Given the description of an element on the screen output the (x, y) to click on. 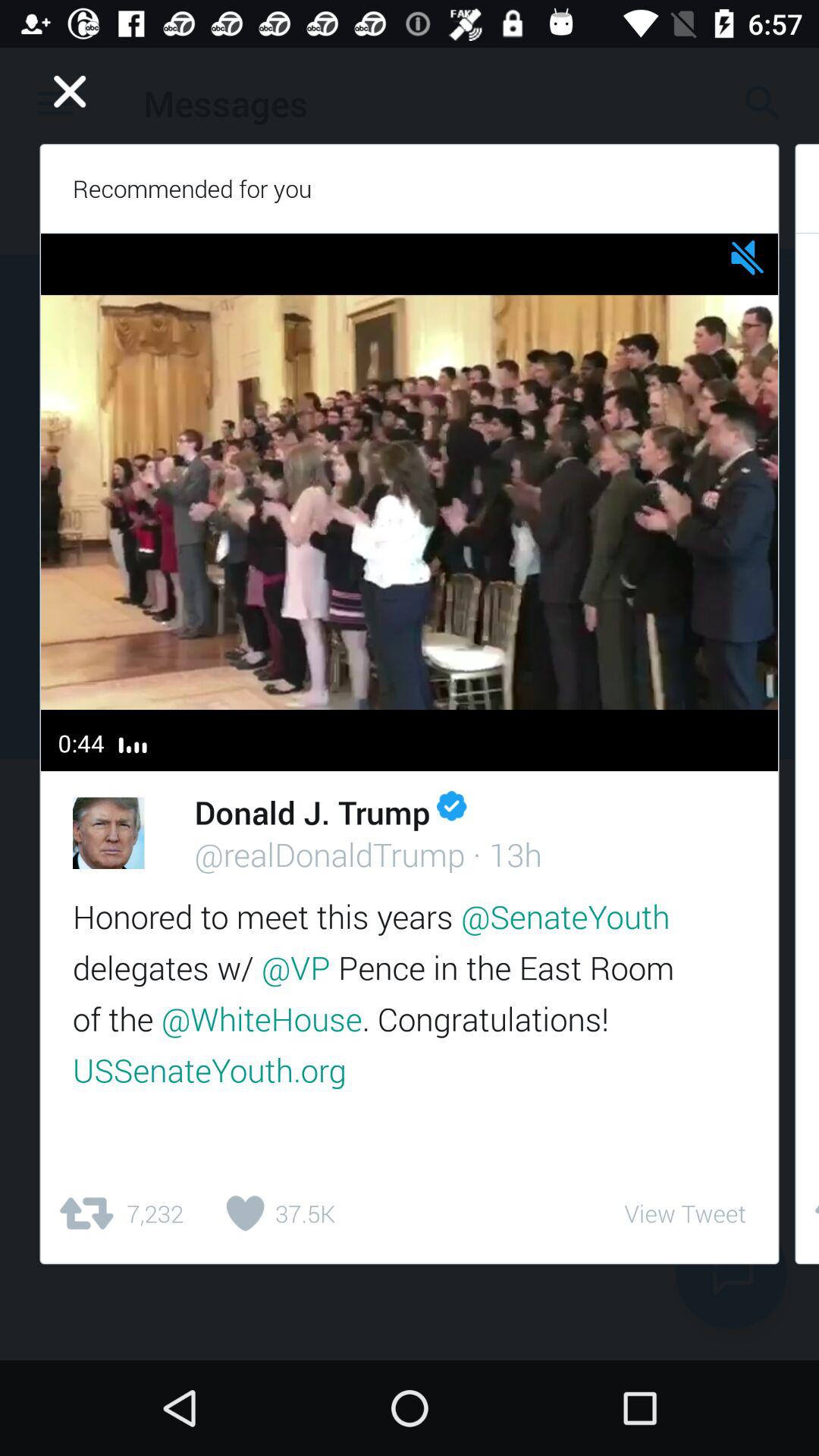
open the item at the bottom left corner (119, 1213)
